Given the description of an element on the screen output the (x, y) to click on. 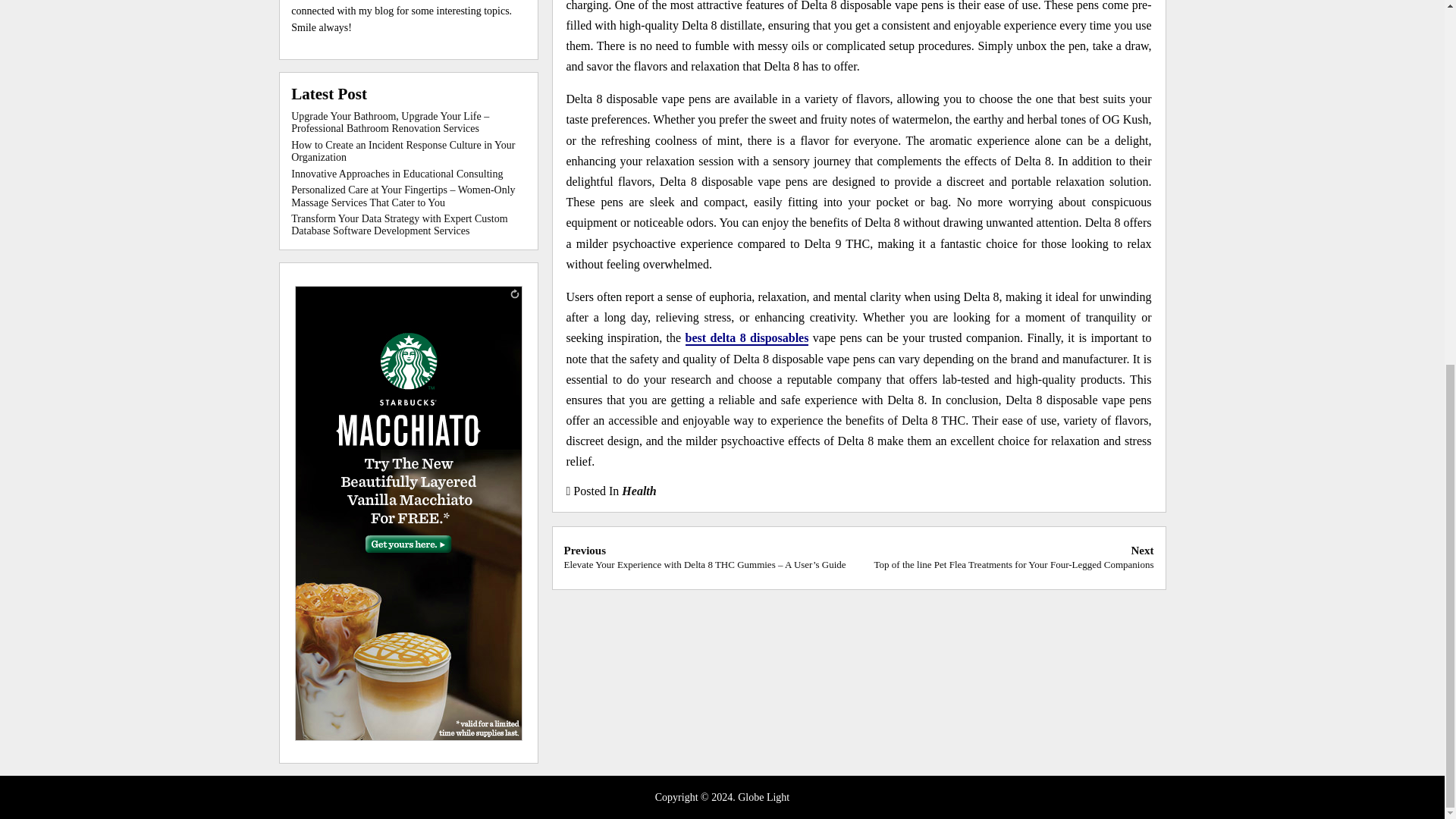
best delta 8 disposables (747, 338)
Innovative Approaches in Educational Consulting (396, 173)
Globe Light (763, 797)
Health (638, 490)
